Given the description of an element on the screen output the (x, y) to click on. 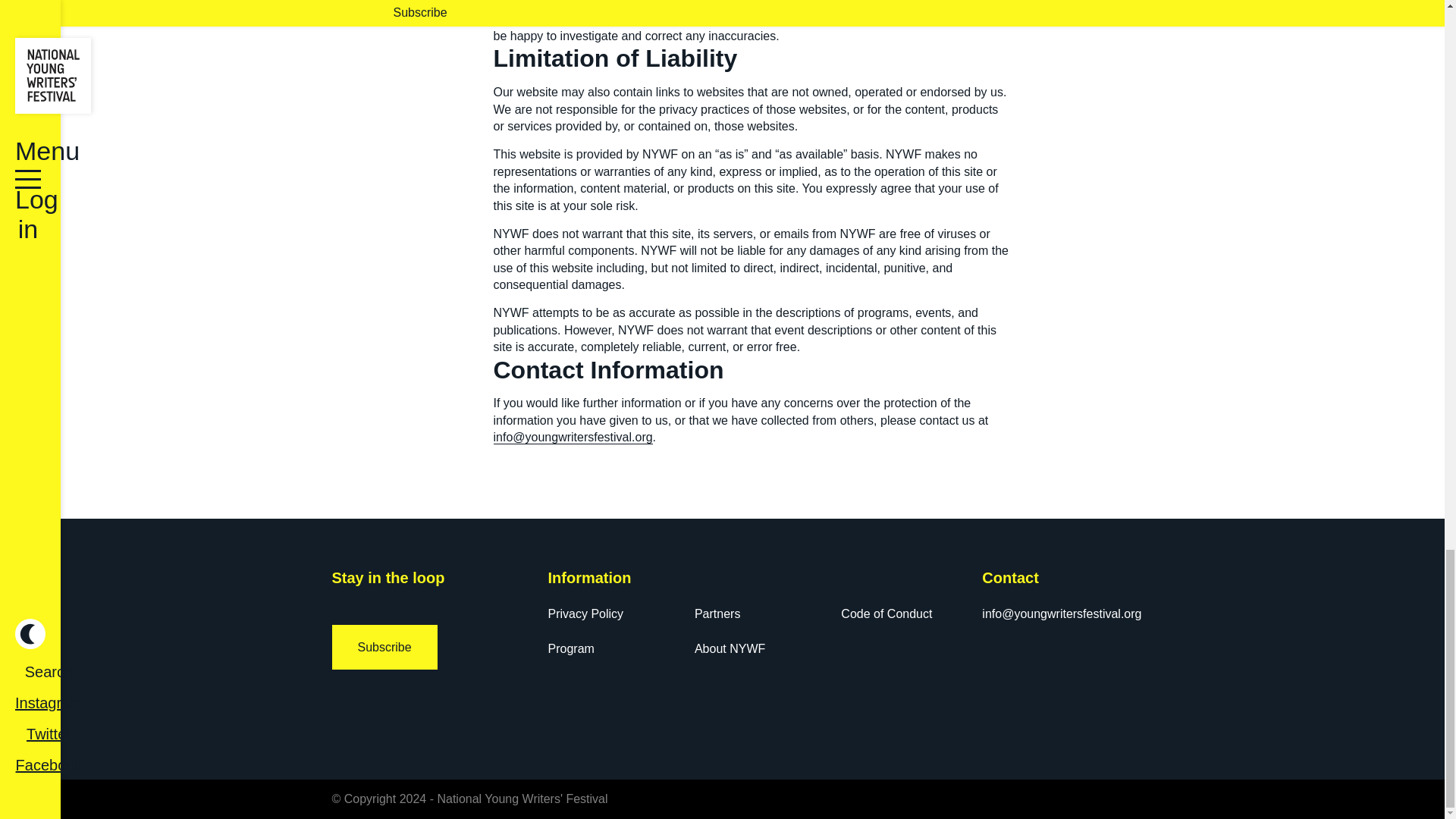
Privacy Policy (585, 613)
Subscribe (384, 646)
Program (570, 648)
Partners (716, 613)
Code of Conduct (886, 613)
About NYWF (729, 648)
